Given the description of an element on the screen output the (x, y) to click on. 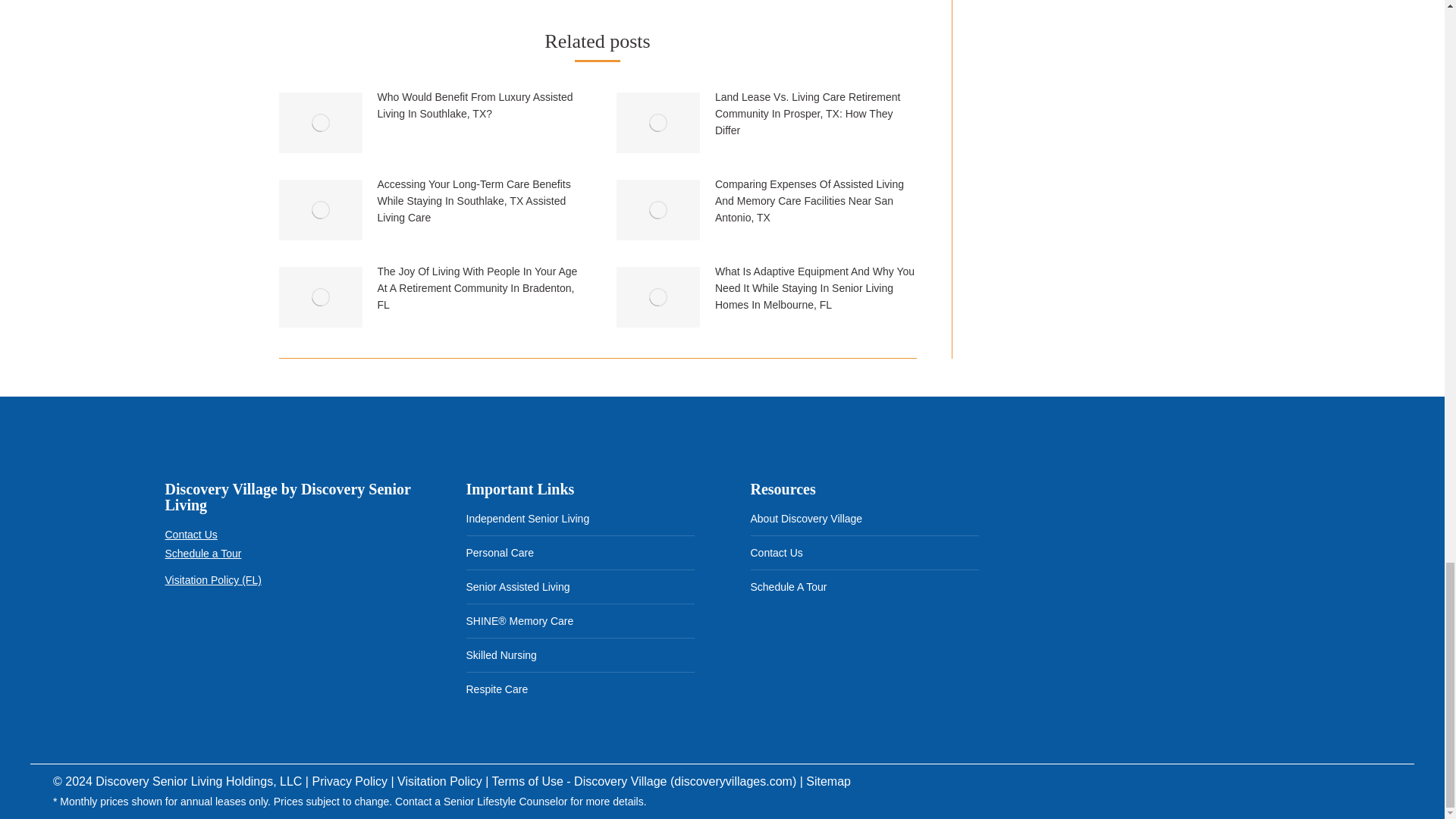
Equal-Housing-Opportunity-logo22-150x144 (259, 639)
Equal-Housing-Opportunity-logo222 (189, 638)
Discovery Map (1148, 567)
